Given the description of an element on the screen output the (x, y) to click on. 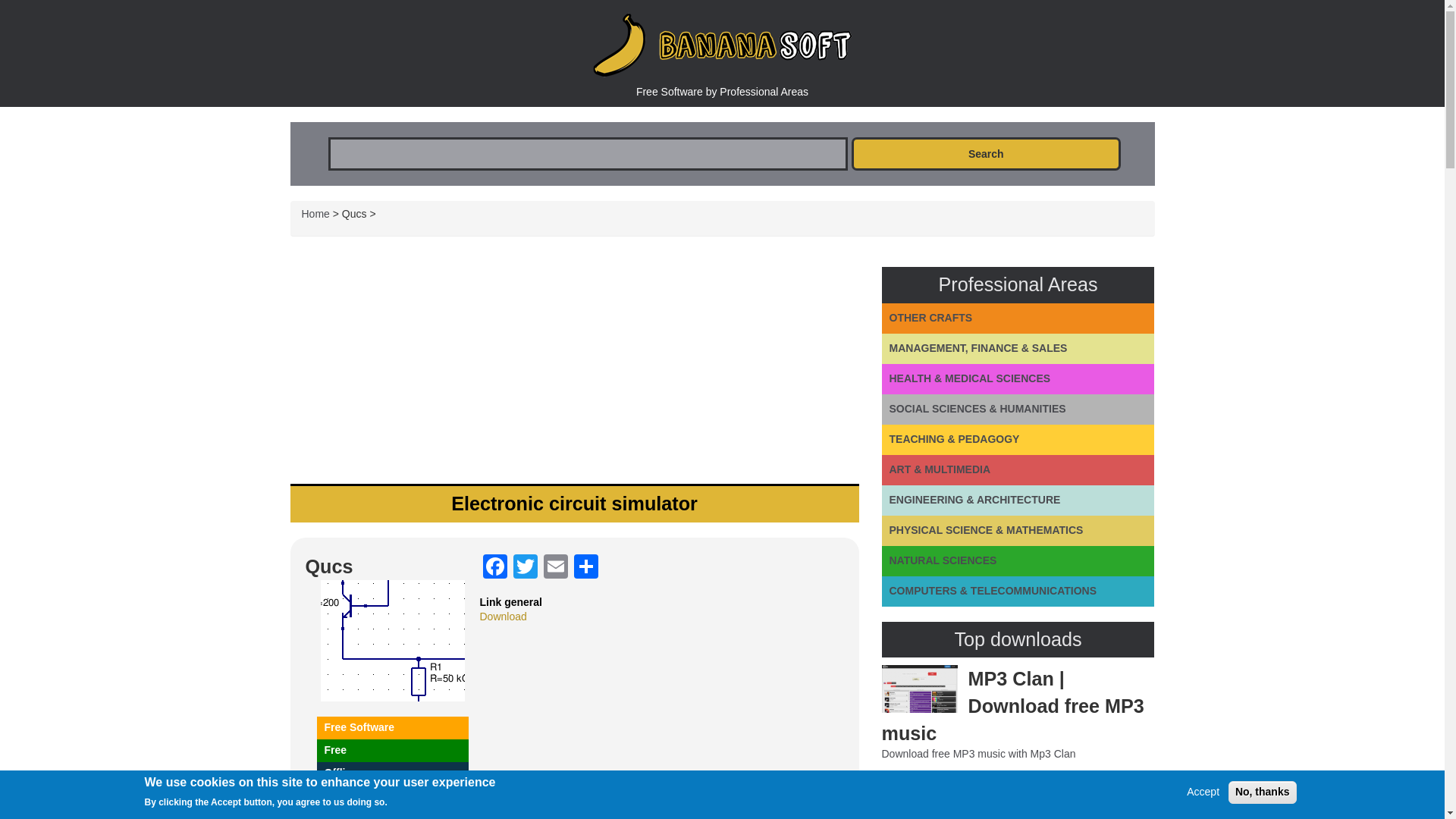
Advertisement (574, 357)
Download free MP3 music with Mp3 Clan (977, 753)
Twitter (524, 565)
Facebook (494, 565)
OTHER CRAFTS (1017, 318)
Qucs circuit simulator (392, 640)
NATURAL SCIENCES (1017, 561)
Download (502, 616)
Search (986, 153)
Home (315, 214)
Qucs circuit simulator (392, 639)
Home (722, 45)
Enter the terms you wish to search for. (587, 153)
Advertisement (720, 662)
English (341, 795)
